Given the description of an element on the screen output the (x, y) to click on. 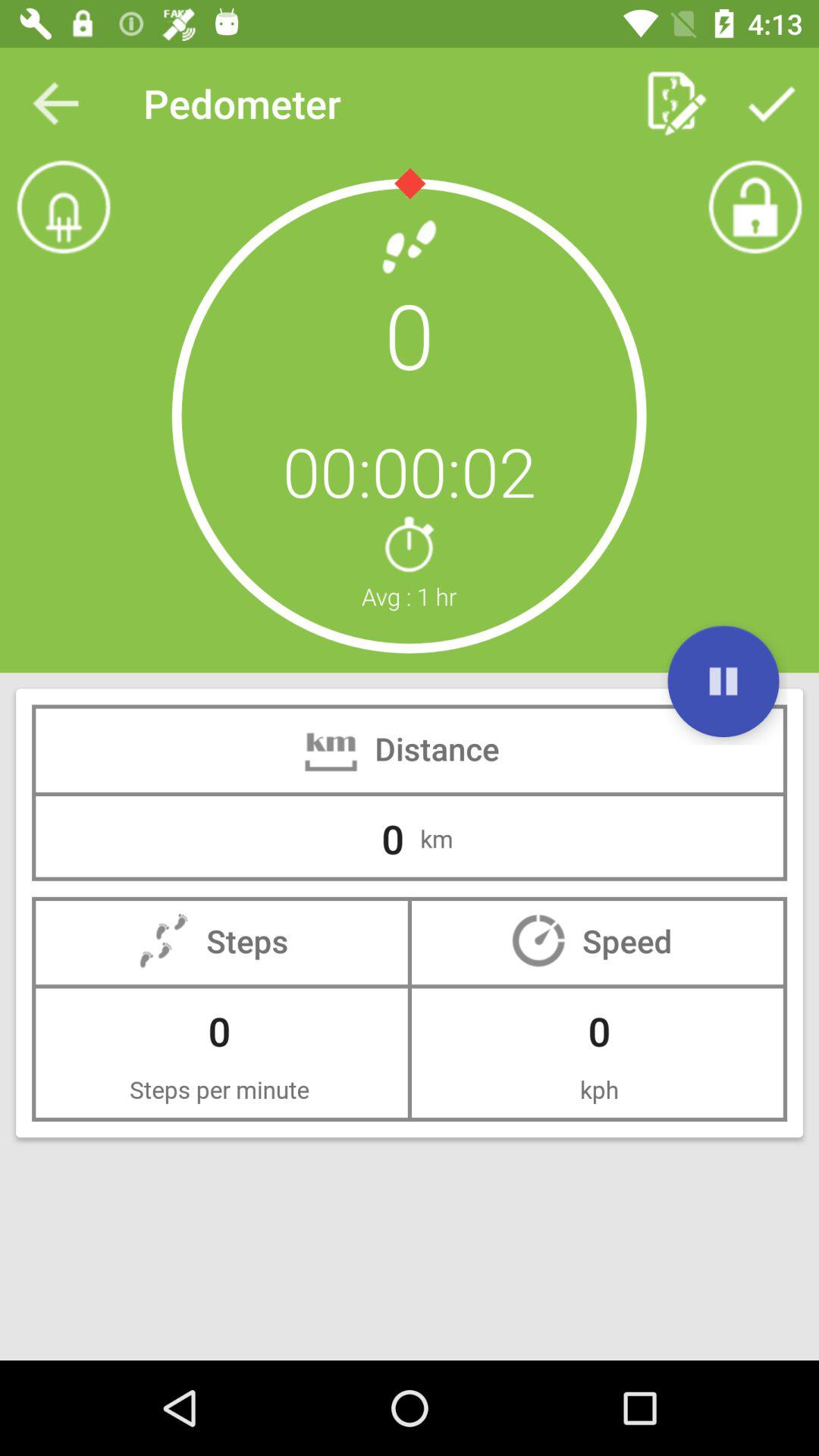
click to play option (723, 681)
